Given the description of an element on the screen output the (x, y) to click on. 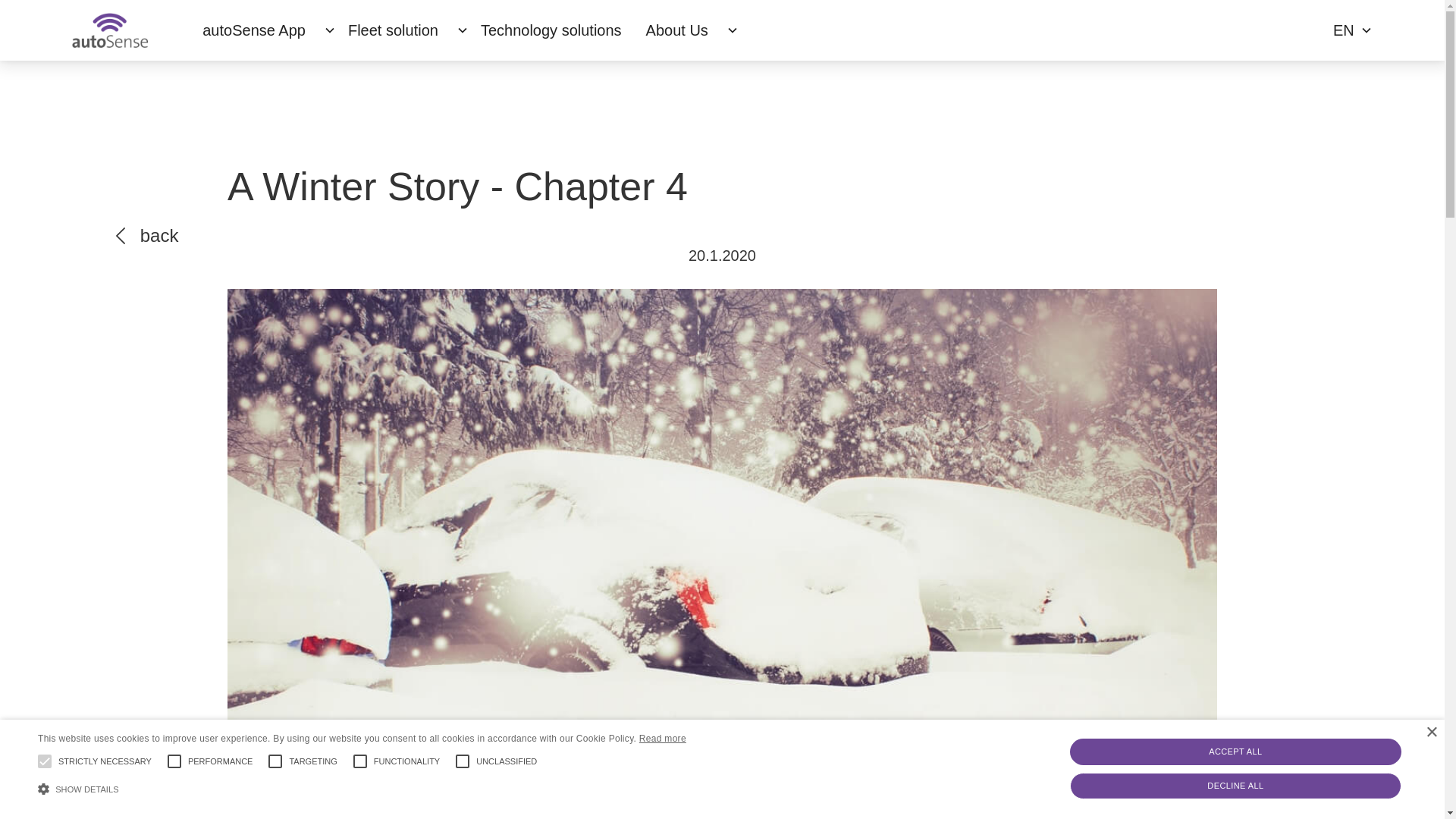
back Element type: text (146, 235)
Technology solutions Element type: text (550, 30)
Read more Element type: text (662, 738)
